Given the description of an element on the screen output the (x, y) to click on. 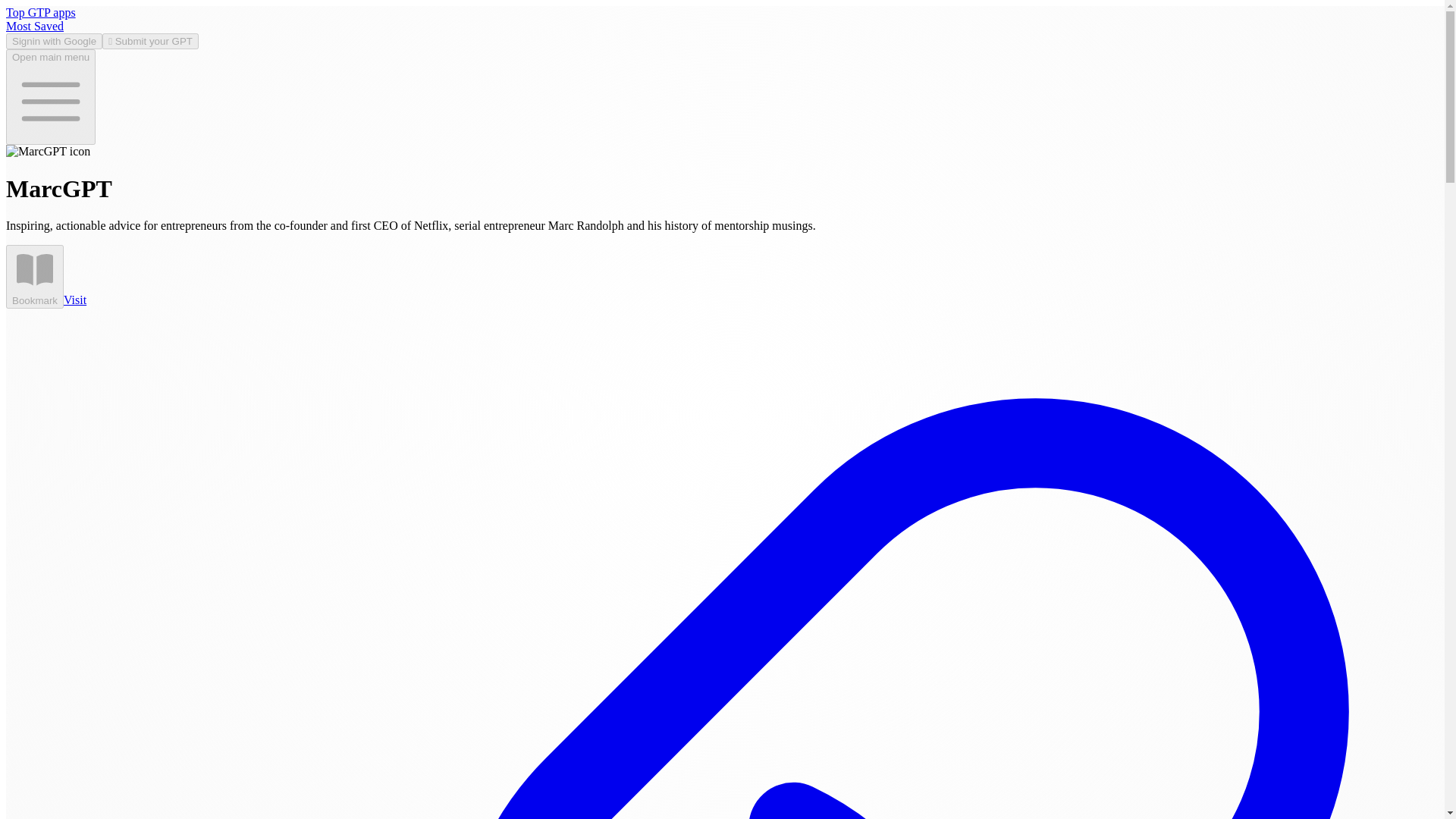
Coming Soon (34, 276)
Top GTP apps (40, 11)
Open main menu (50, 96)
Most Saved (34, 25)
Bookmark (34, 276)
Signin with Google (53, 41)
